Given the description of an element on the screen output the (x, y) to click on. 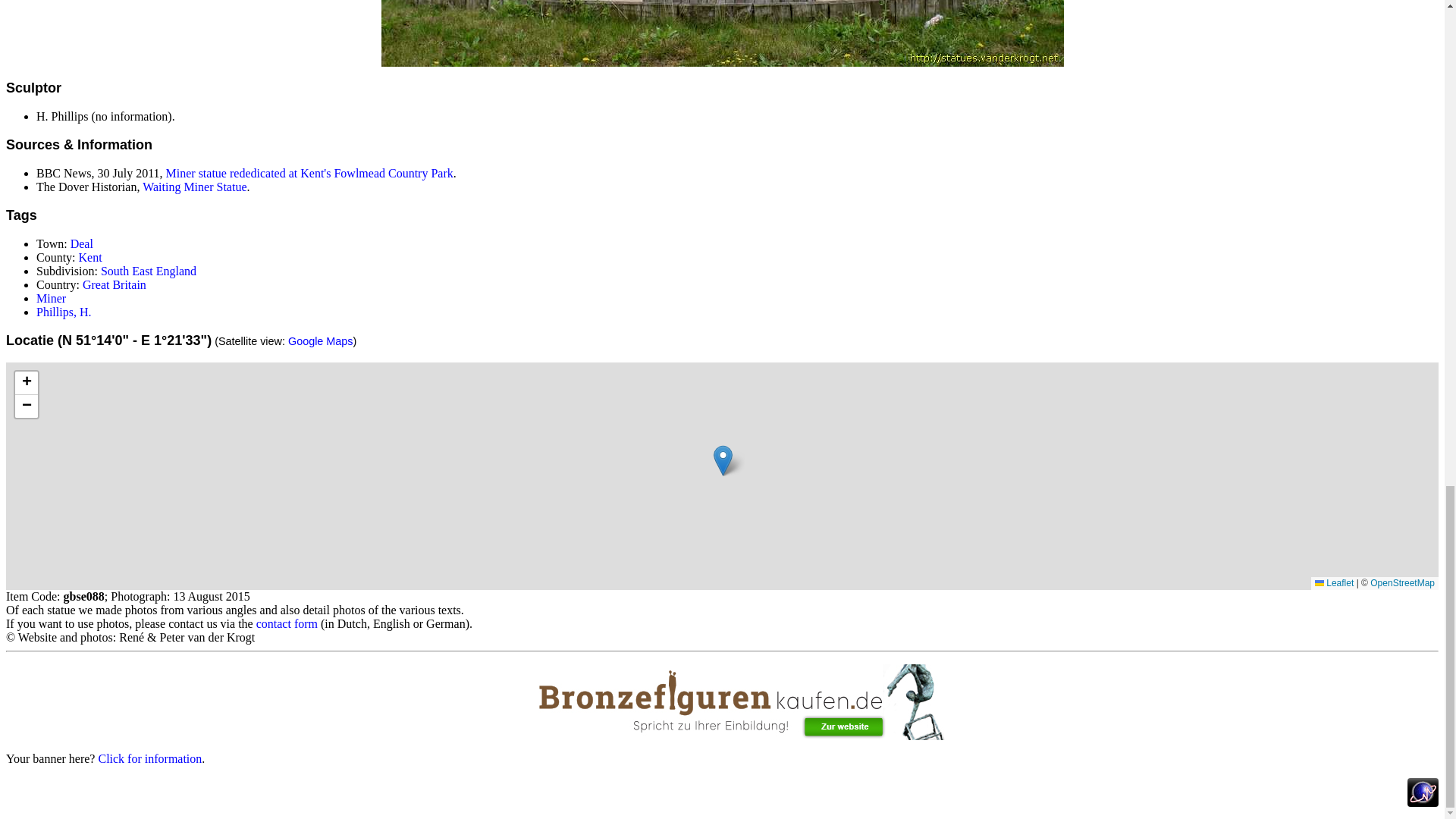
eXTReMe Tracker - Free Website Statistics (1422, 802)
Miner statue rededicated at Kent's Fowlmead Country Park (308, 173)
OpenStreetMap (1402, 583)
Miner (50, 297)
Zoom in (25, 382)
Waiting Miner Statue (194, 186)
Kent (89, 256)
Leaflet (1334, 583)
Google Maps (320, 340)
A JavaScript library for interactive maps (1334, 583)
Deal (81, 243)
Great Britain (114, 284)
Bronzefiguren Kaufen (722, 702)
Phillips, H. (63, 311)
South East England (148, 270)
